Given the description of an element on the screen output the (x, y) to click on. 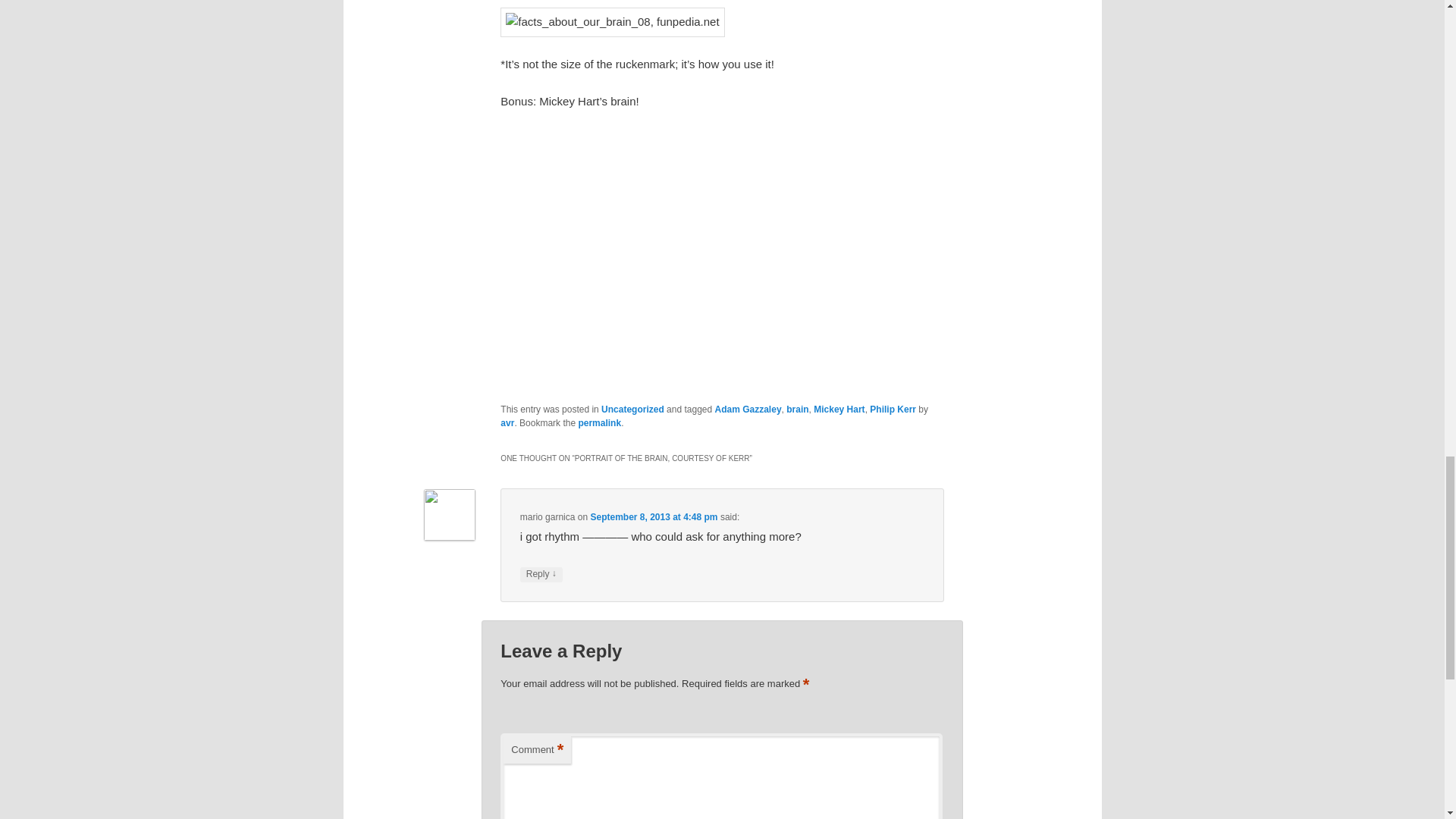
Permalink to Portrait of the Brain, Courtesy of Kerr (599, 422)
September 8, 2013 at 4:48 pm (653, 516)
Mickey Hart (838, 409)
Philip Kerr (892, 409)
Uncategorized (632, 409)
permalink (599, 422)
brain (797, 409)
Adam Gazzaley (747, 409)
avr (506, 422)
